Given the description of an element on the screen output the (x, y) to click on. 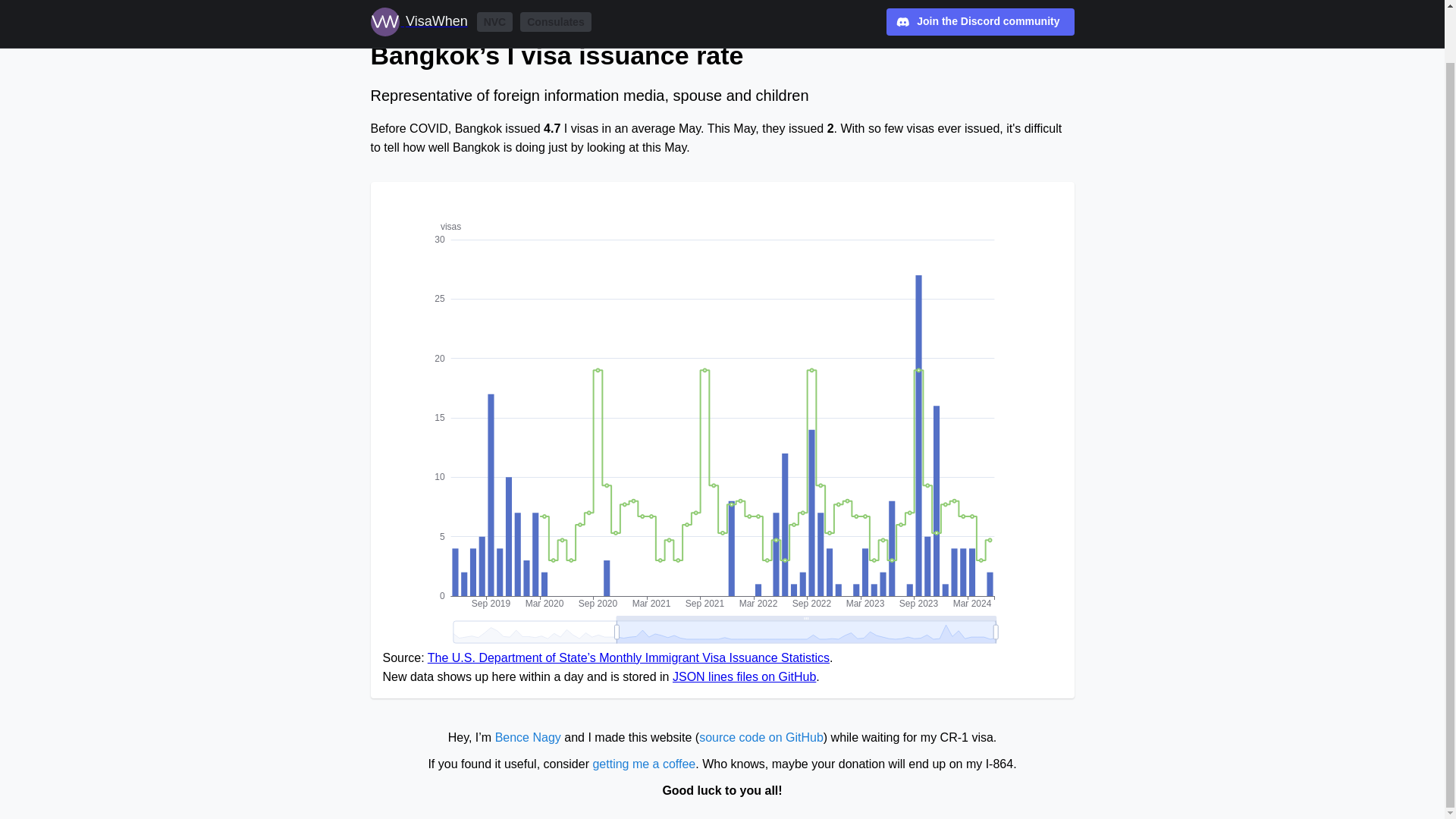
Change consulate (424, 15)
Change visa class (544, 15)
getting me a coffee (643, 763)
source code on GitHub (761, 737)
JSON lines files on GitHub (743, 676)
Bence Nagy (527, 737)
